Given the description of an element on the screen output the (x, y) to click on. 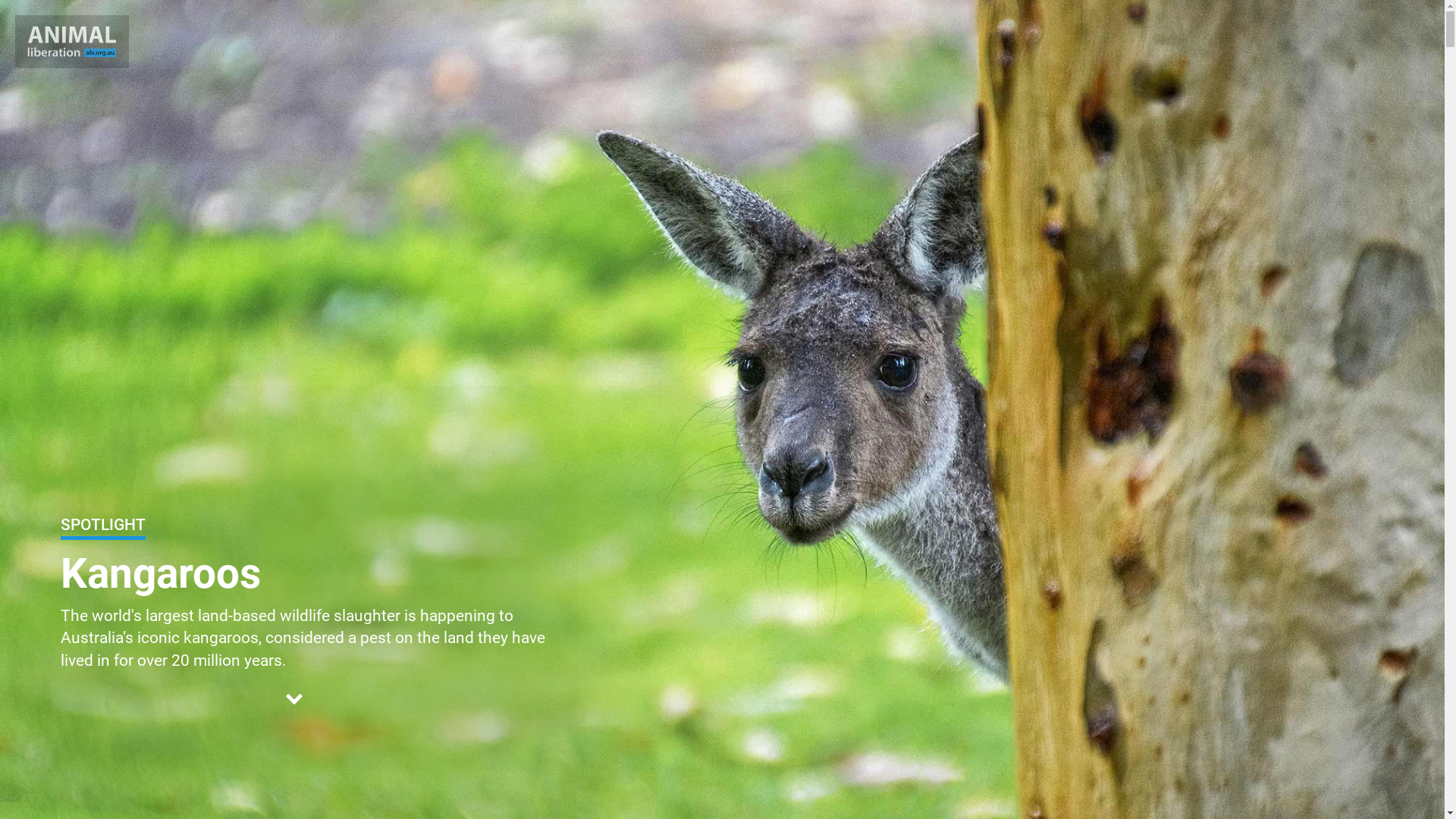
SPOTLIGHT Element type: text (102, 527)
